Given the description of an element on the screen output the (x, y) to click on. 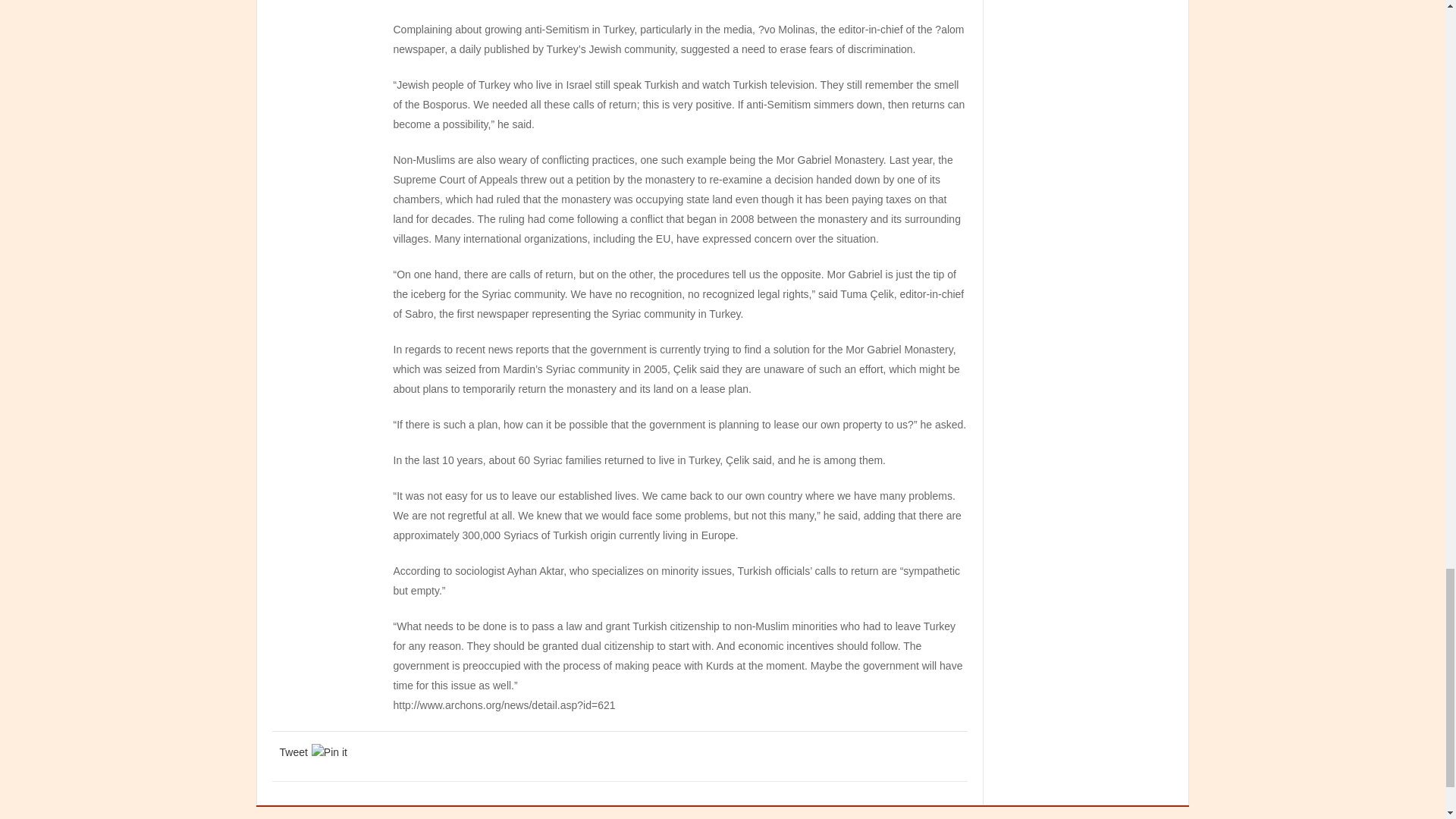
Pin it (329, 751)
Tweet (293, 751)
